Given the description of an element on the screen output the (x, y) to click on. 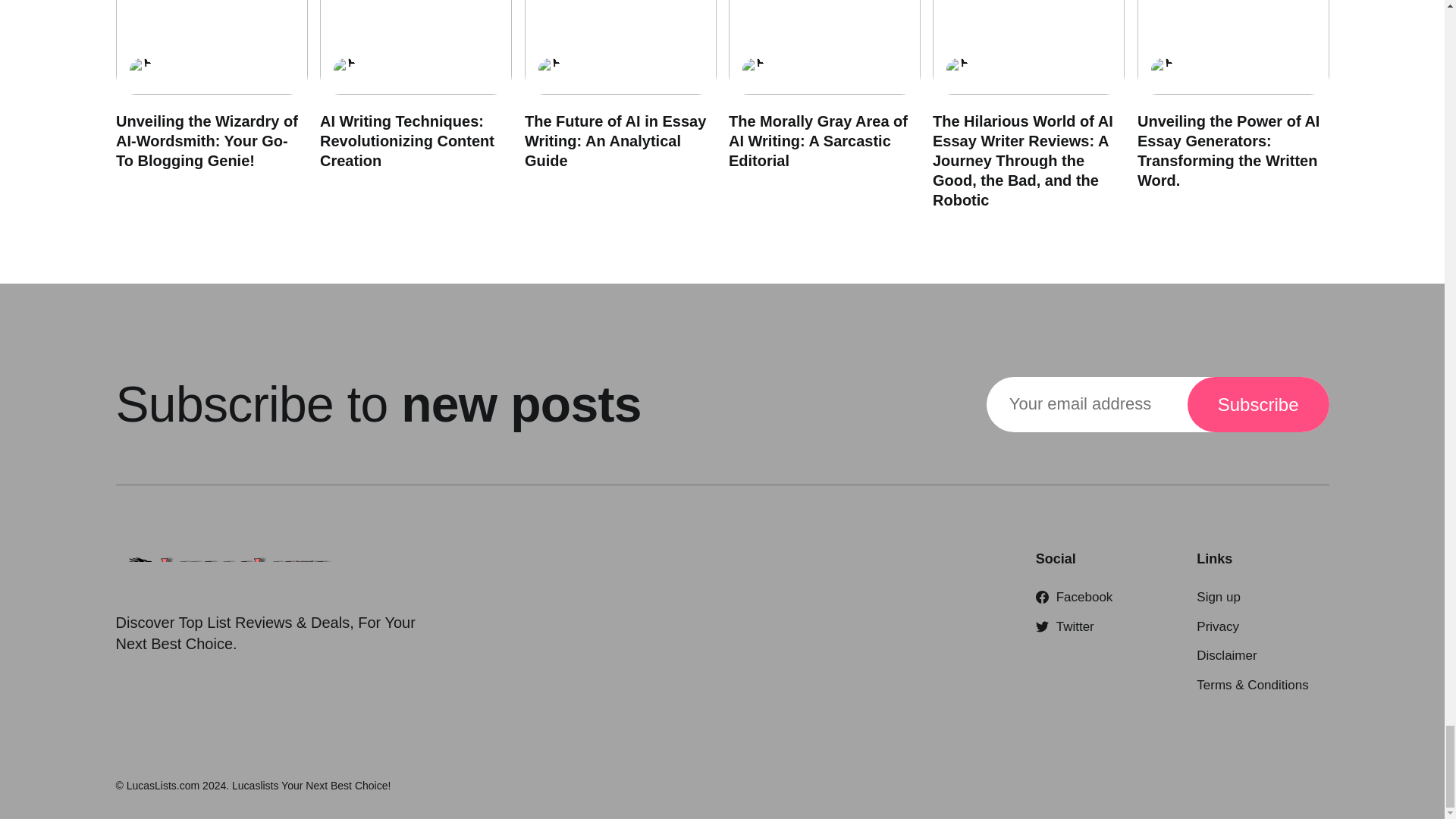
Joseph Lucas (1161, 69)
AI Writing Techniques: Revolutionizing Content Creation (407, 140)
Joseph Lucas (344, 69)
Joseph Lucas (752, 69)
The Morally Gray Area of AI Writing: A Sarcastic Editorial (817, 140)
Joseph Lucas (957, 69)
Joseph Lucas (140, 69)
The Future of AI in Essay Writing: An Analytical Guide (614, 140)
